Given the description of an element on the screen output the (x, y) to click on. 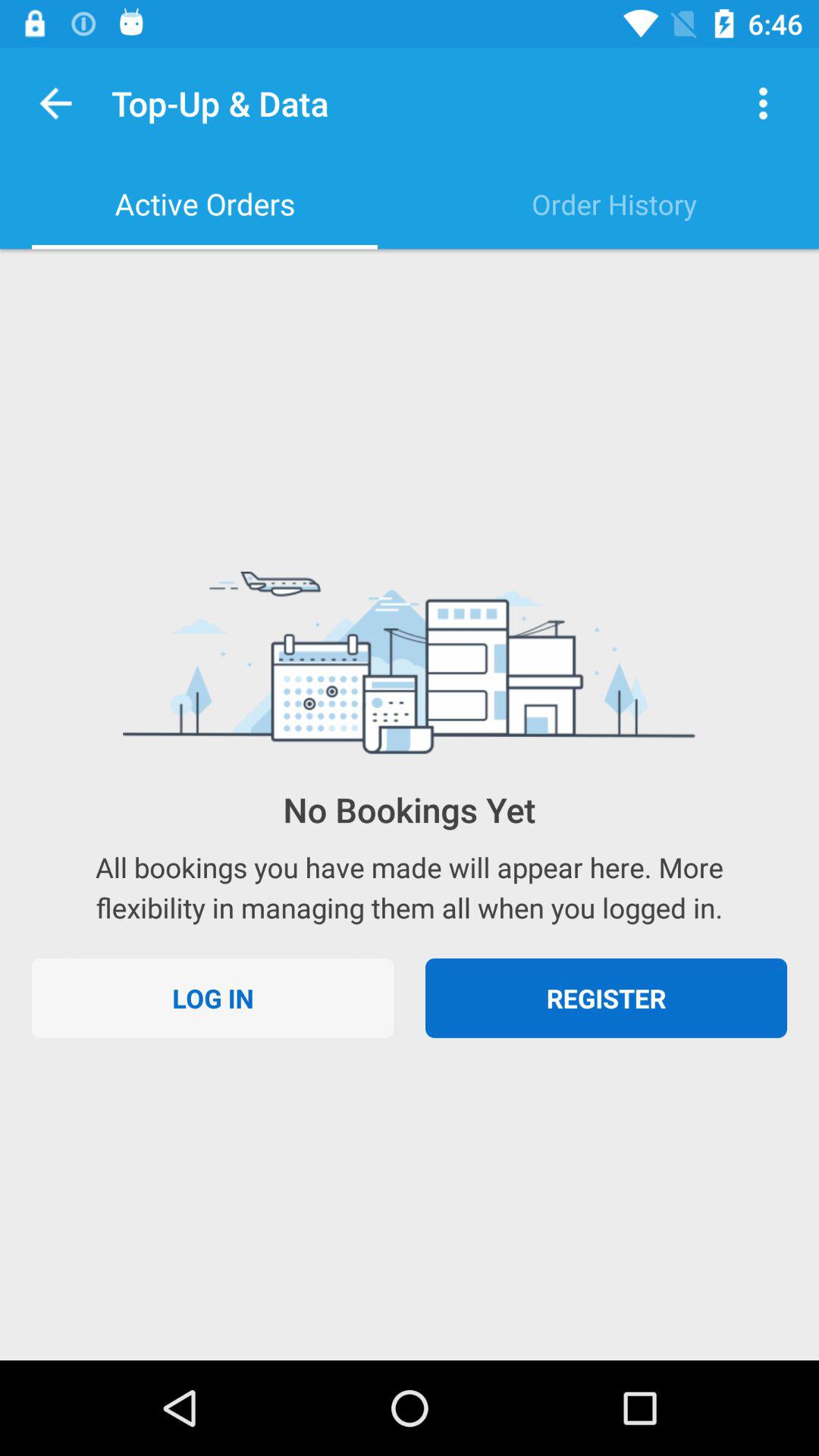
choose the icon below the all bookings you item (606, 997)
